Given the description of an element on the screen output the (x, y) to click on. 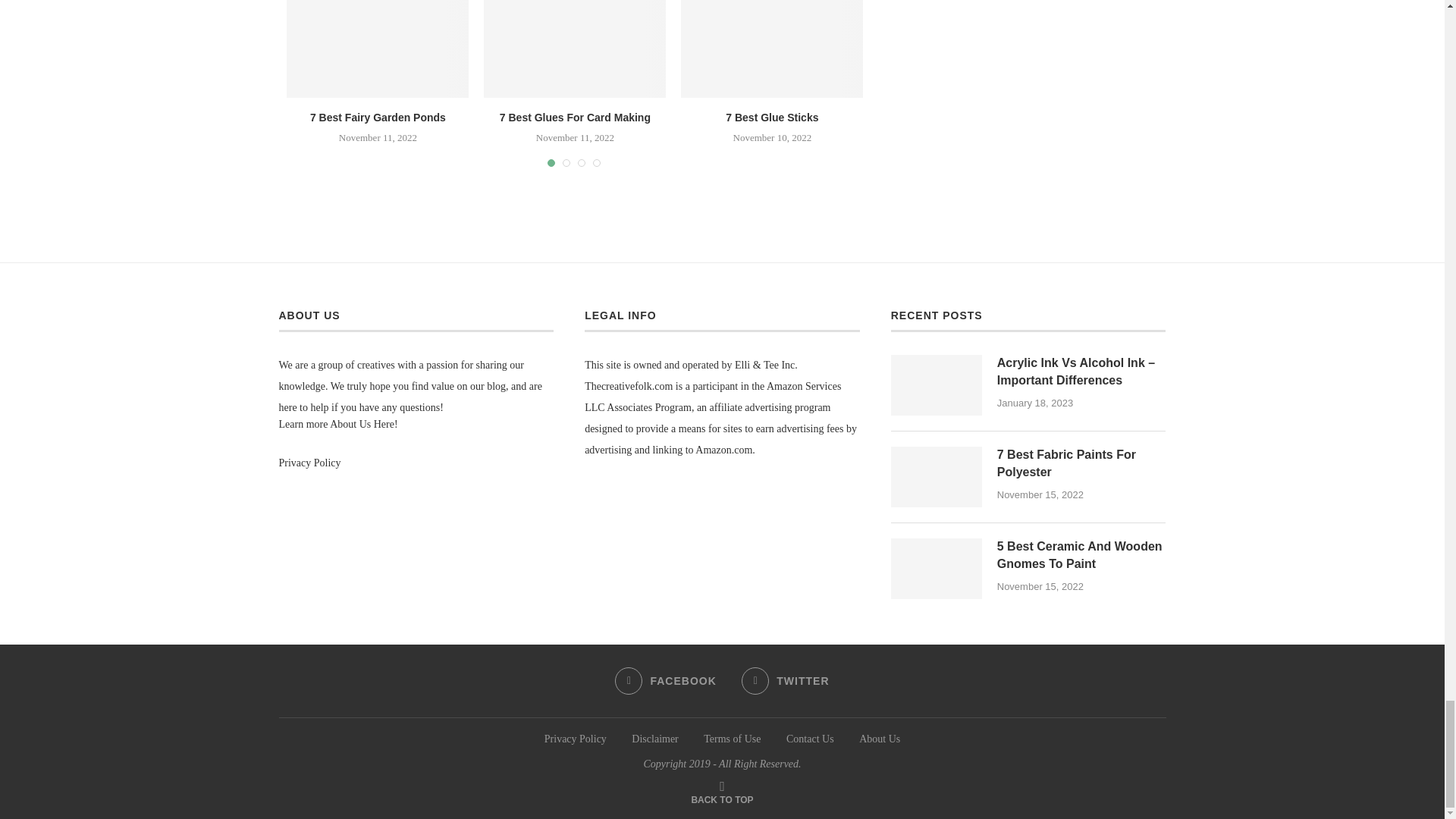
7 Best Glue Sticks (772, 48)
7 Best Glues For Card Making (574, 48)
7 Best Fairy Garden Ponds (377, 48)
